Given the description of an element on the screen output the (x, y) to click on. 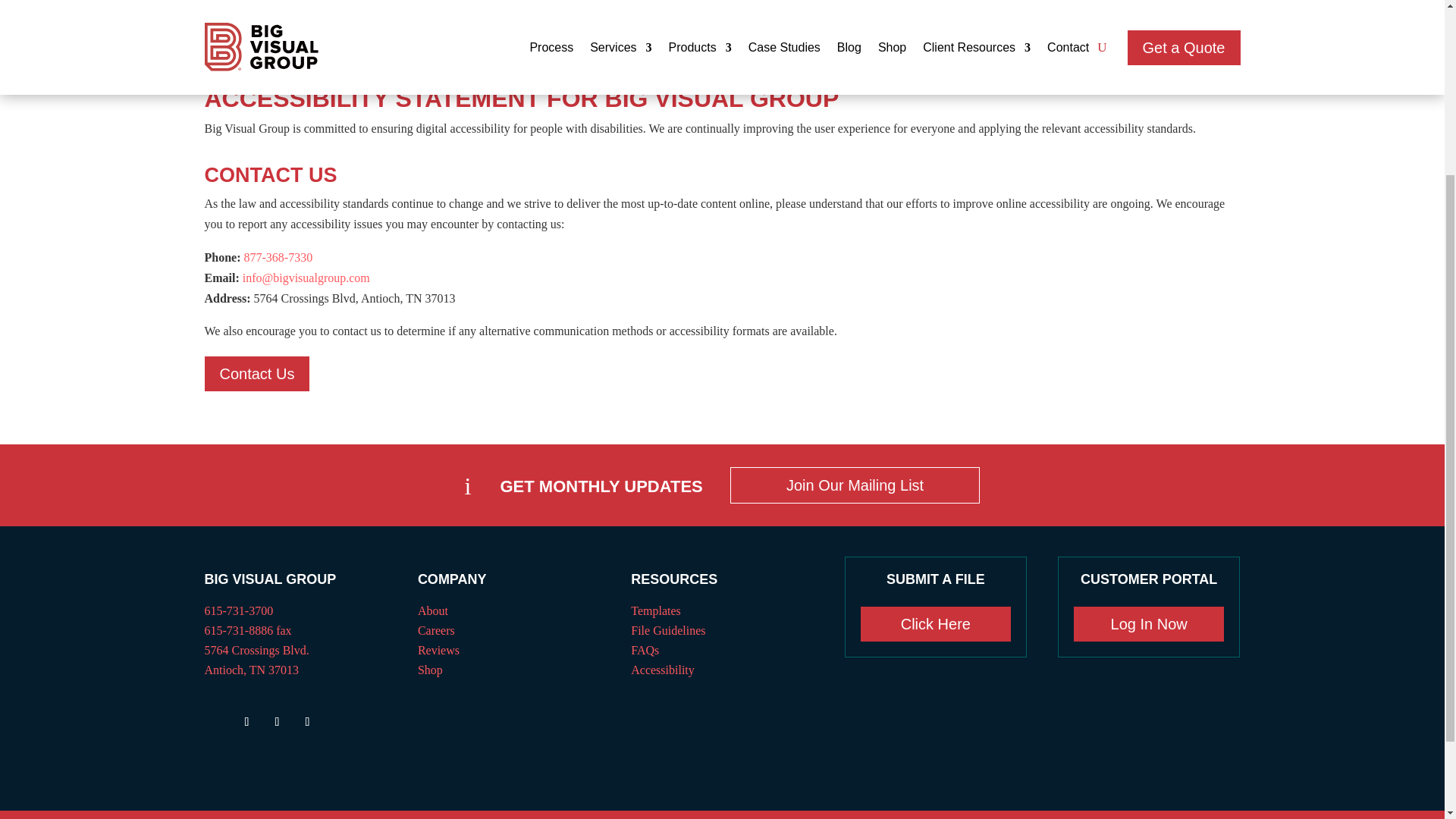
Follow on Instagram (276, 721)
Follow on Facebook (246, 721)
Follow on LinkedIn (307, 721)
